Given the description of an element on the screen output the (x, y) to click on. 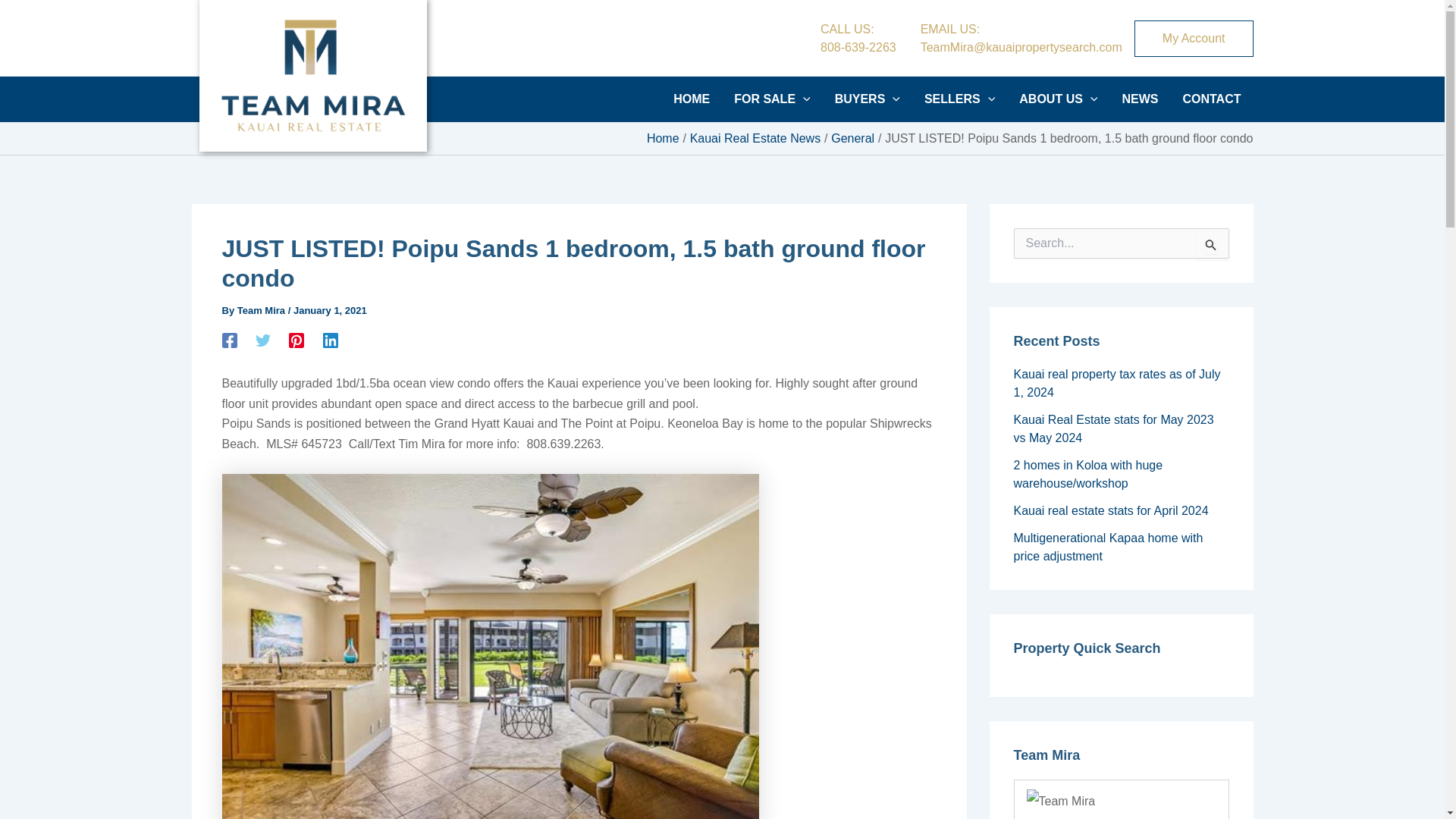
ABOUT US (1058, 99)
Search (1211, 244)
Search (1211, 244)
CONTACT (1211, 99)
My Account (1193, 38)
HOME (691, 99)
FOR SALE (858, 37)
BUYERS (772, 99)
SELLERS (867, 99)
View all posts by Team Mira (959, 99)
NEWS (262, 310)
